Given the description of an element on the screen output the (x, y) to click on. 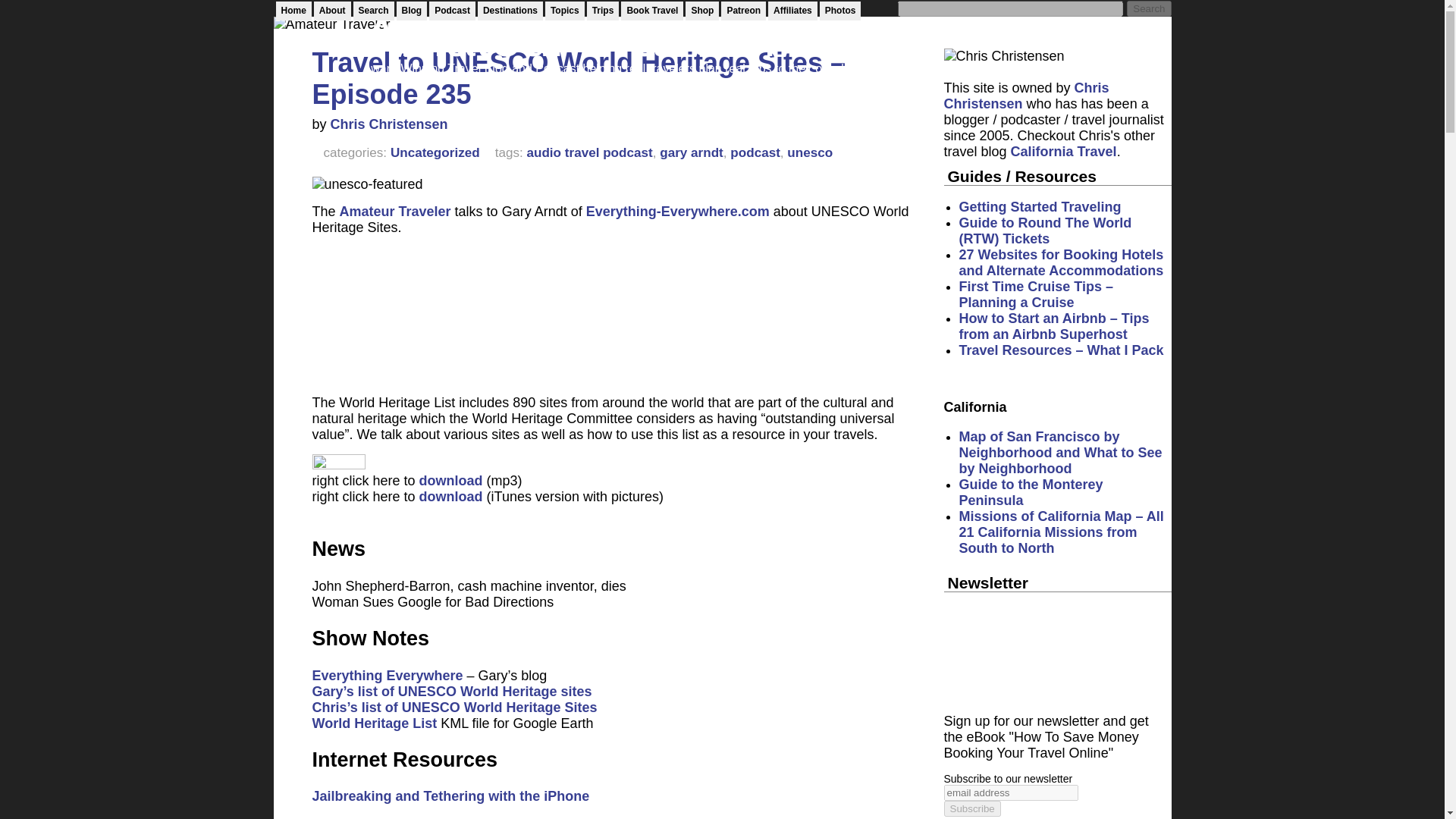
podcast (755, 152)
download (451, 480)
audio travel podcast (588, 152)
Chris Christensen (389, 124)
Uncategorized (435, 152)
gary arndt (691, 152)
Everything-Everywhere.com (678, 211)
World Heritage List (375, 723)
Subscribe (971, 808)
download (451, 496)
unesco (809, 152)
Search (1148, 8)
Jailbreaking and Tethering with the iPhone (451, 795)
Amateur Traveler (395, 211)
Everything Everywhere (388, 675)
